Given the description of an element on the screen output the (x, y) to click on. 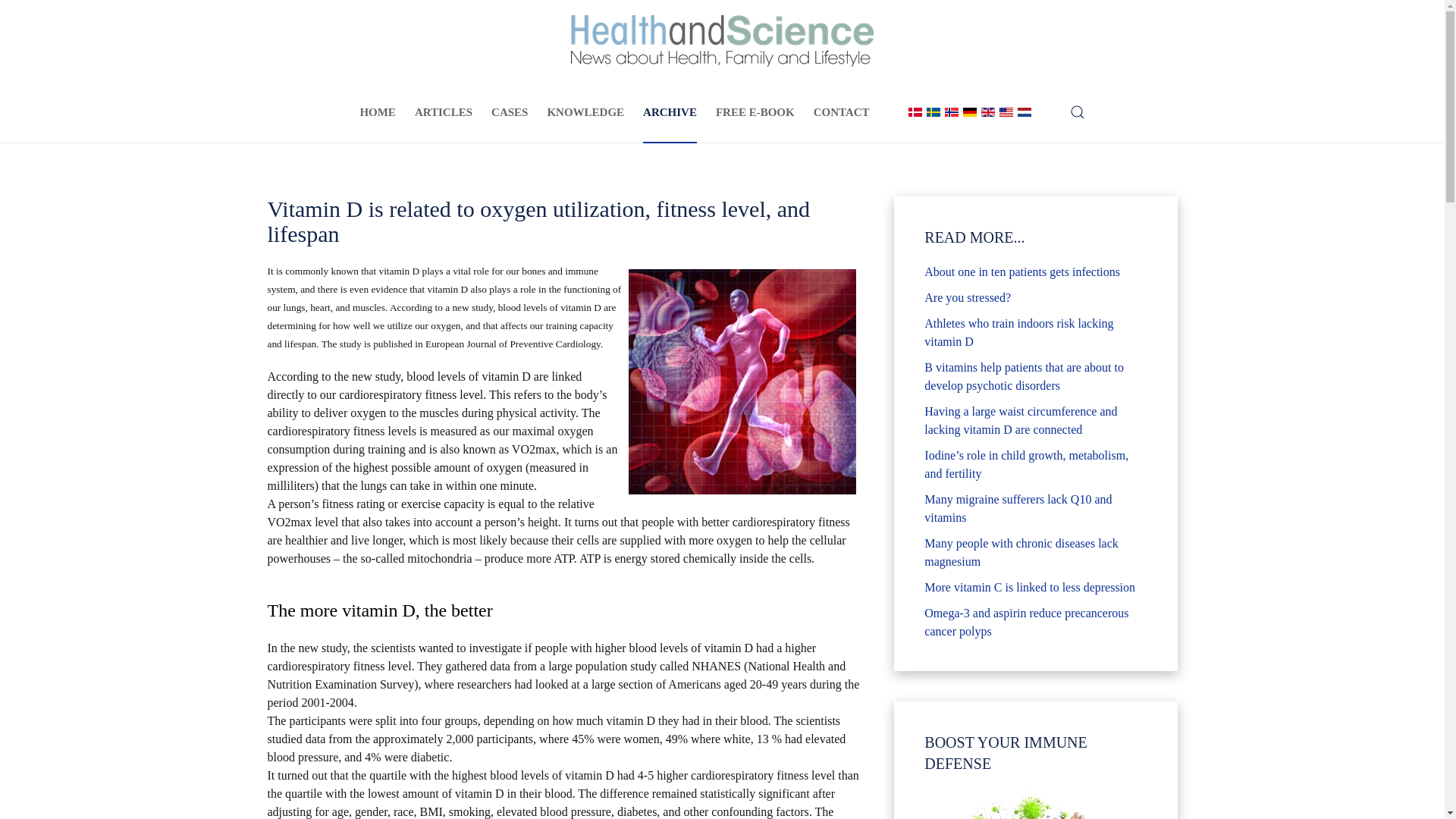
FREE E-BOOK (755, 111)
KNOWLEDGE (585, 111)
Dansk (914, 112)
German (969, 112)
Dutch (1023, 112)
ARTICLES (442, 111)
CONTACT (841, 111)
BOOST YOUR IMMUNE DEFENSE (1034, 804)
